Given the description of an element on the screen output the (x, y) to click on. 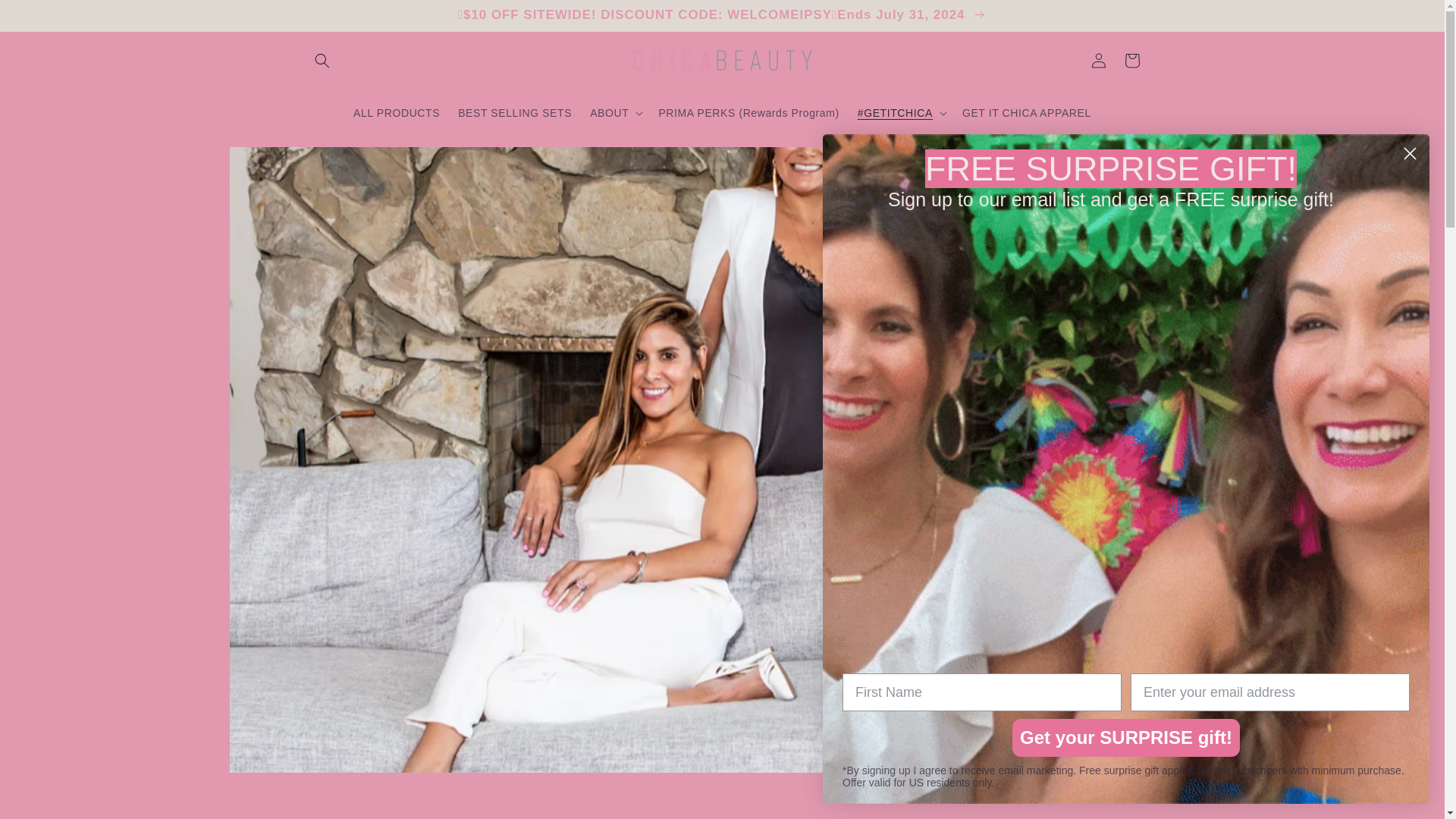
Cart (1131, 60)
GET IT CHICA APPAREL (1026, 112)
ALL PRODUCTS (395, 112)
Close dialog 1 (1409, 153)
Log in (1098, 60)
Skip to content (51, 23)
BEST SELLING SETS (514, 112)
